Given the description of an element on the screen output the (x, y) to click on. 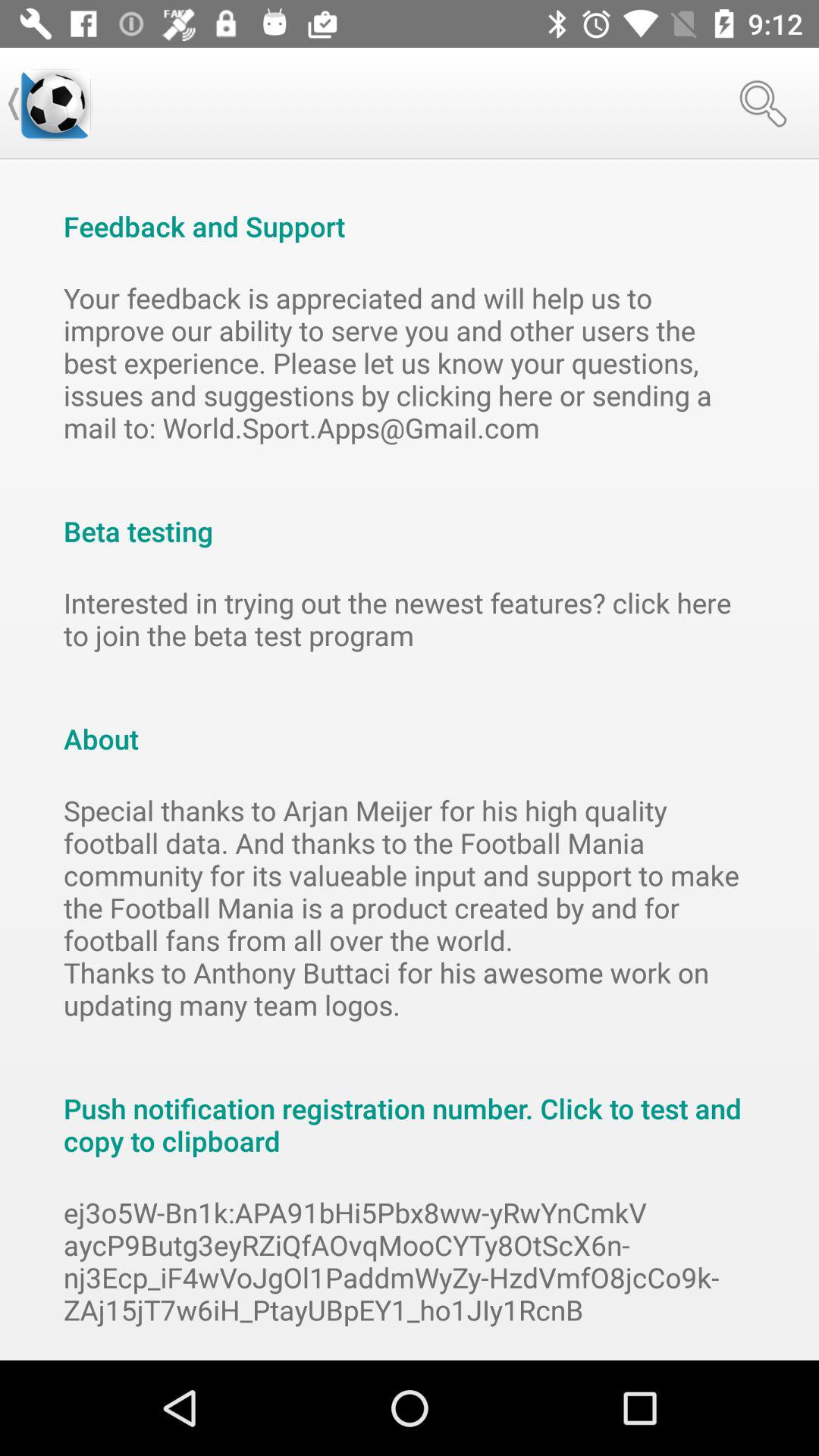
swipe until push notification registration icon (409, 1108)
